Given the description of an element on the screen output the (x, y) to click on. 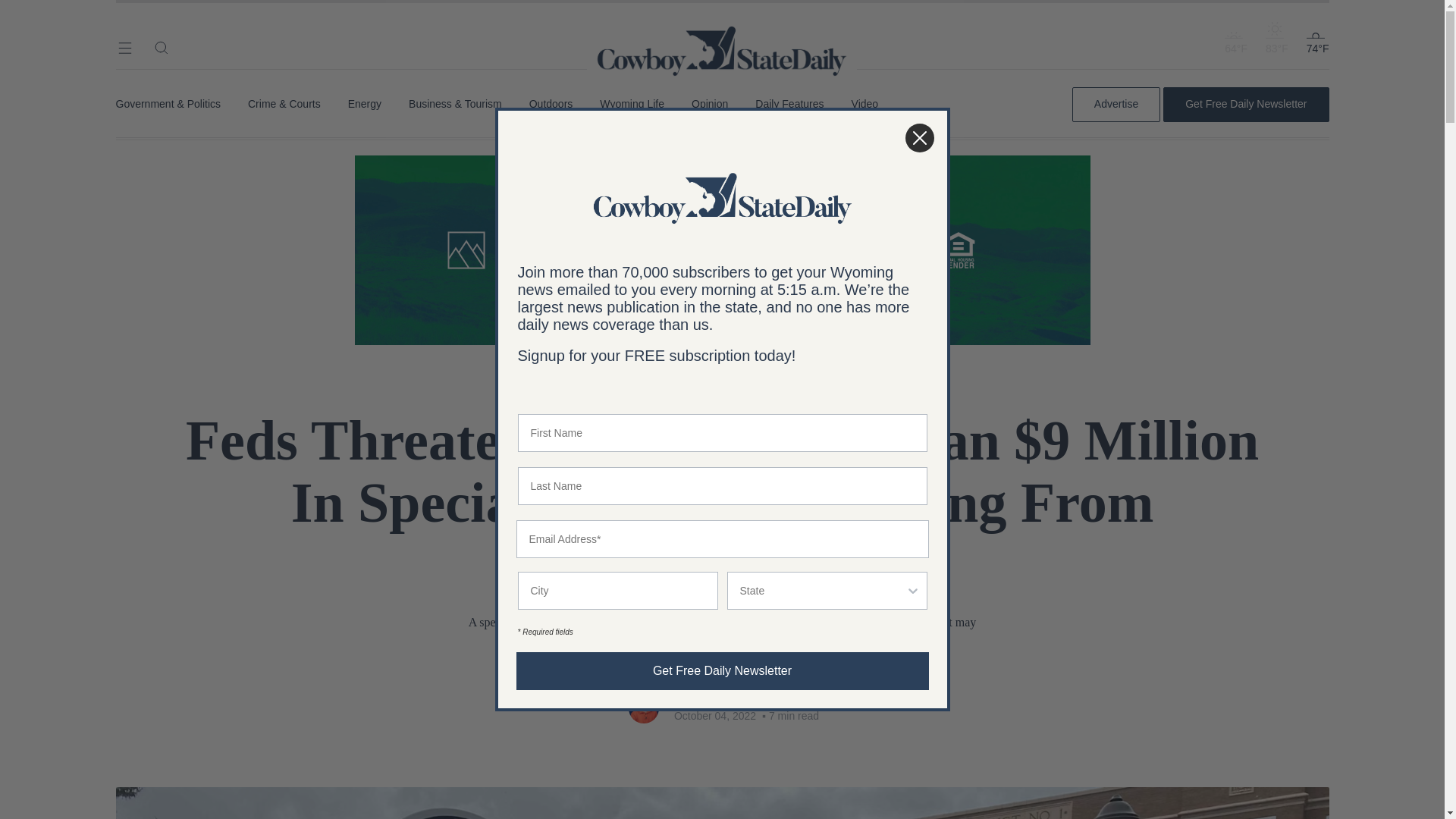
Go to homepage (721, 30)
Daily Features (789, 104)
Get Free Daily Newsletter (1245, 104)
Wyoming Life (631, 104)
Close dialog 1 (919, 137)
Advertise (1115, 104)
Menu (124, 47)
Search (160, 47)
